Given the description of an element on the screen output the (x, y) to click on. 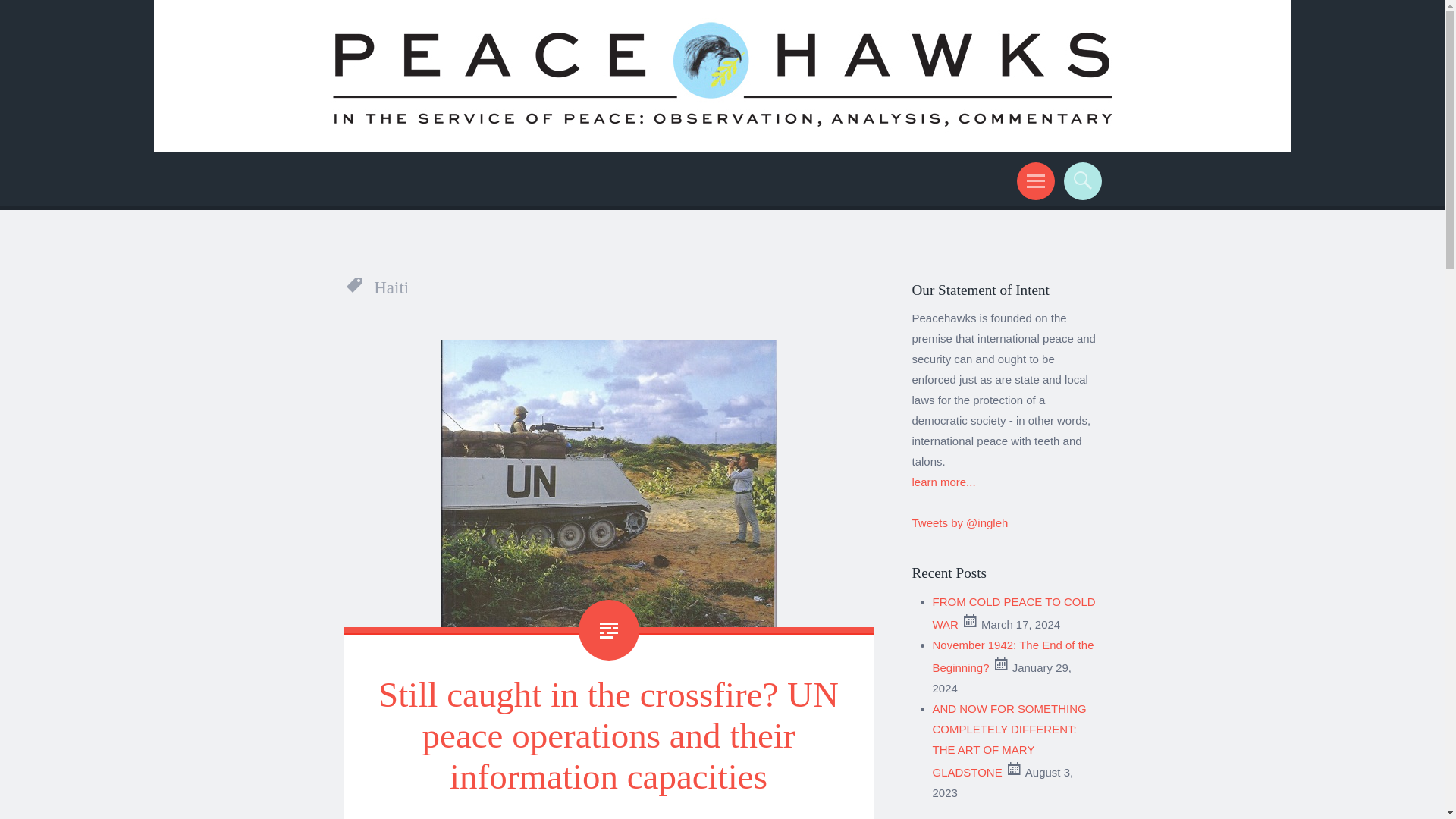
Search (1080, 180)
learn more... (943, 481)
Menu (1032, 180)
learn more... (943, 481)
November 1942: The End of the Beginning? (1013, 656)
FROM COLD PEACE TO COLD WAR (1014, 612)
